Given the description of an element on the screen output the (x, y) to click on. 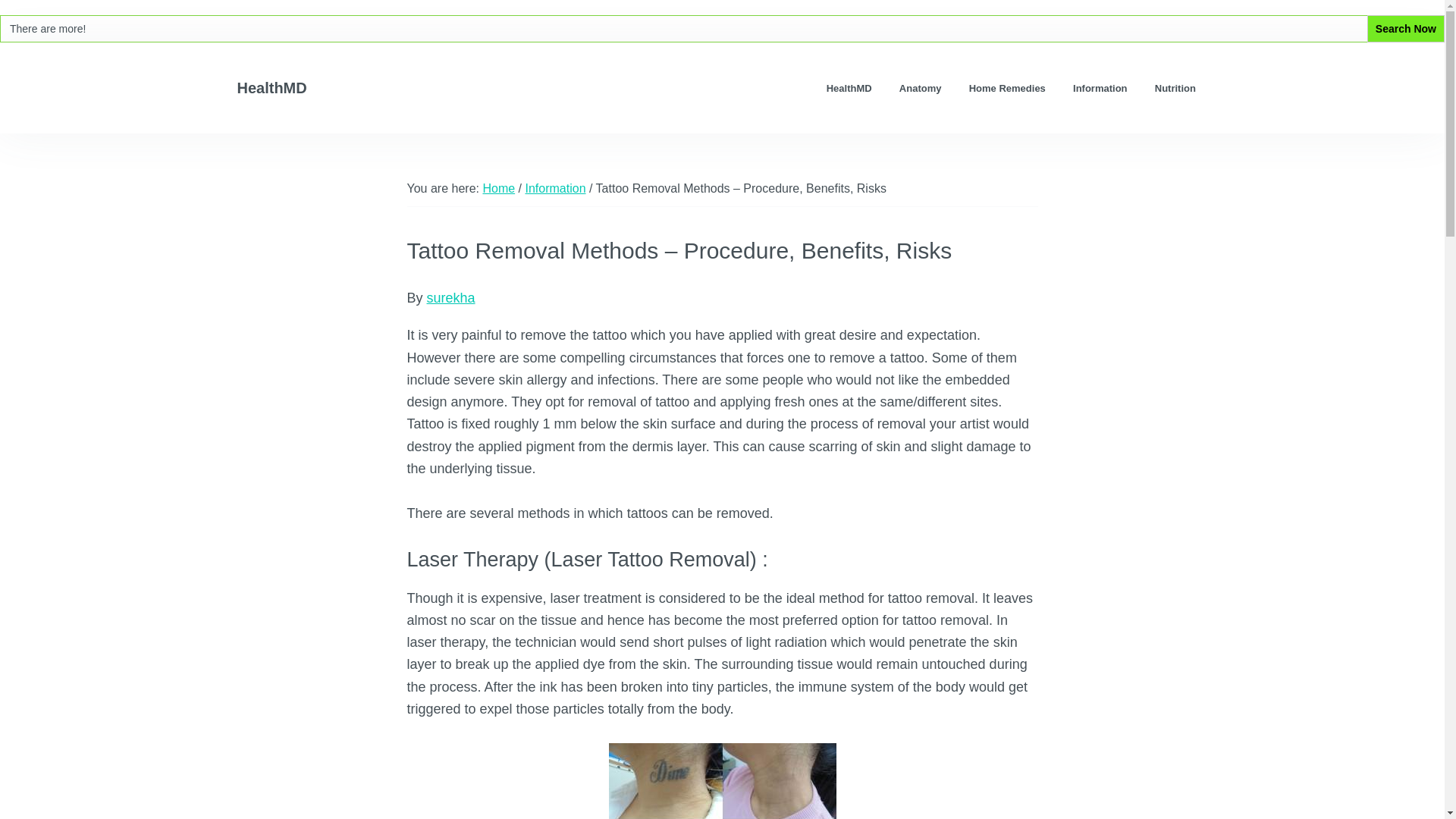
Anatomy (919, 87)
surekha (451, 297)
HealthMD (270, 87)
Information (554, 187)
HealthMD (848, 87)
Home Remedies (1006, 87)
Home (498, 187)
Nutrition (1174, 87)
Information (1099, 87)
